Given the description of an element on the screen output the (x, y) to click on. 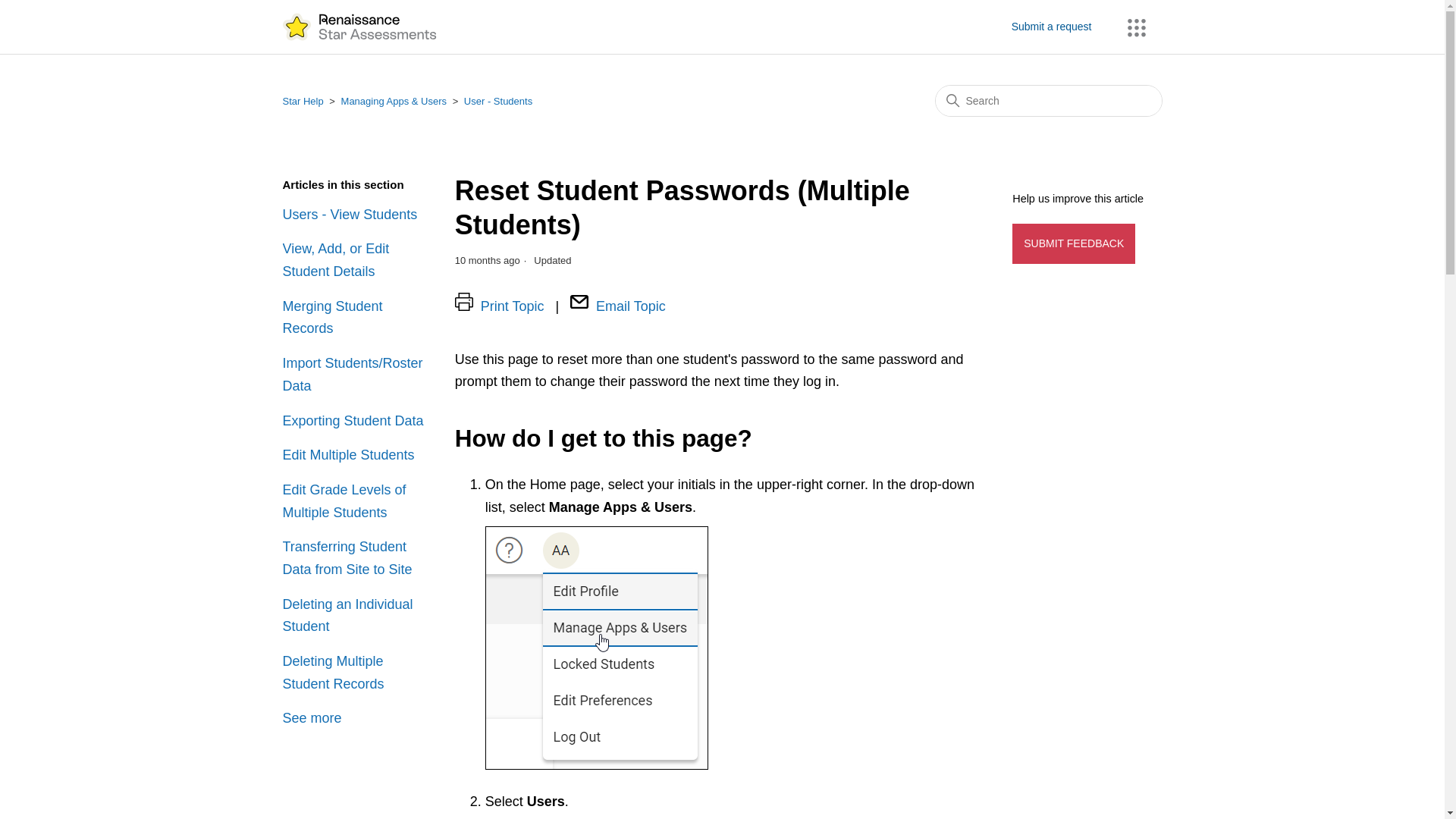
View, Add, or Edit Student Details (356, 260)
See more (311, 717)
Exporting Student Data (356, 420)
Submit a request (1058, 27)
Star Help (302, 101)
User - Students (498, 101)
Transferring Student Data from Site to Site (356, 558)
Users - View Students (356, 214)
Deleting Multiple Student Records (356, 672)
Merging Student Records (356, 317)
